Given the description of an element on the screen output the (x, y) to click on. 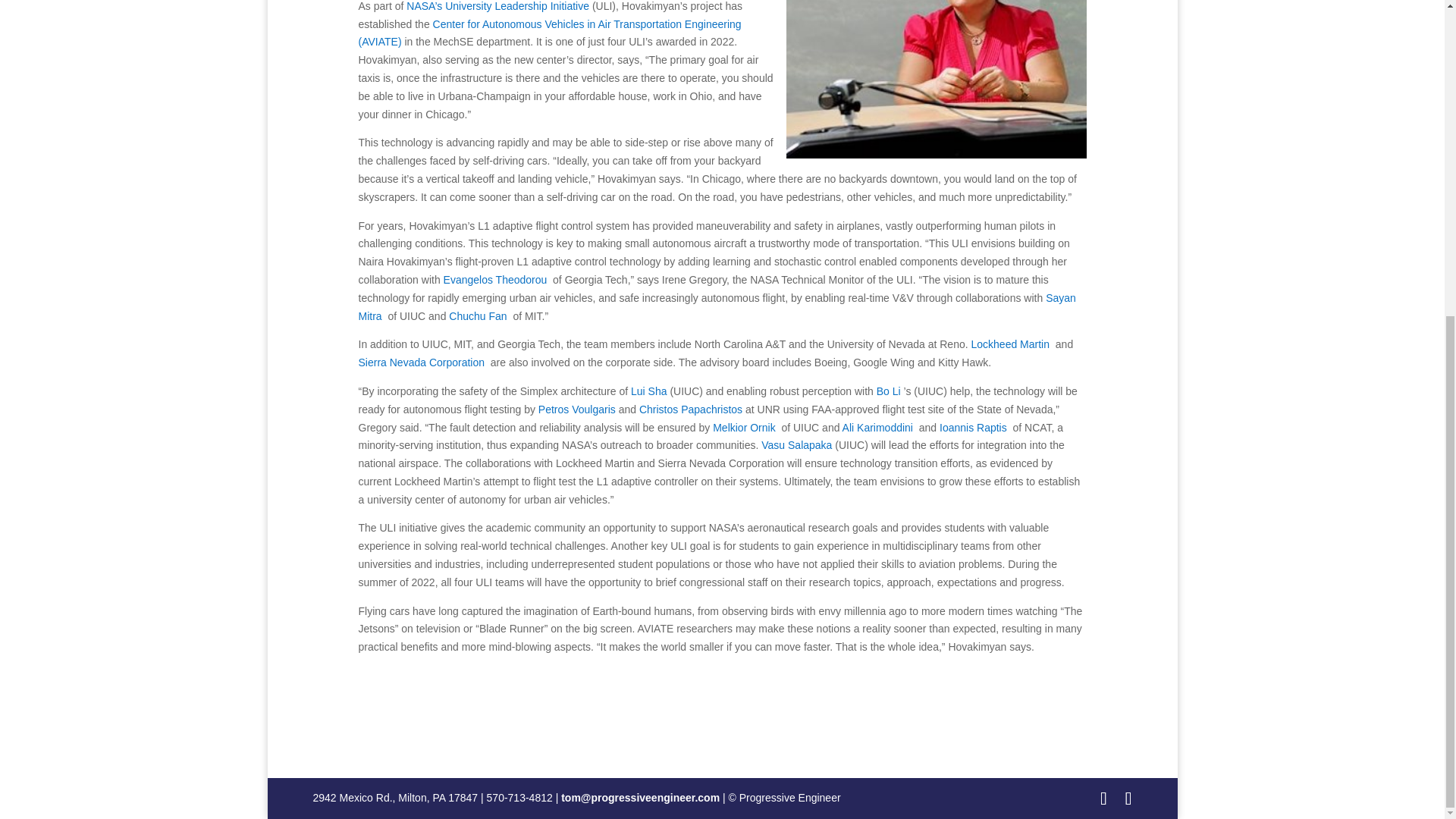
Evangelos Theodorou (495, 279)
Sayan Mitra (716, 306)
Chuchu Fan (477, 316)
